Given the description of an element on the screen output the (x, y) to click on. 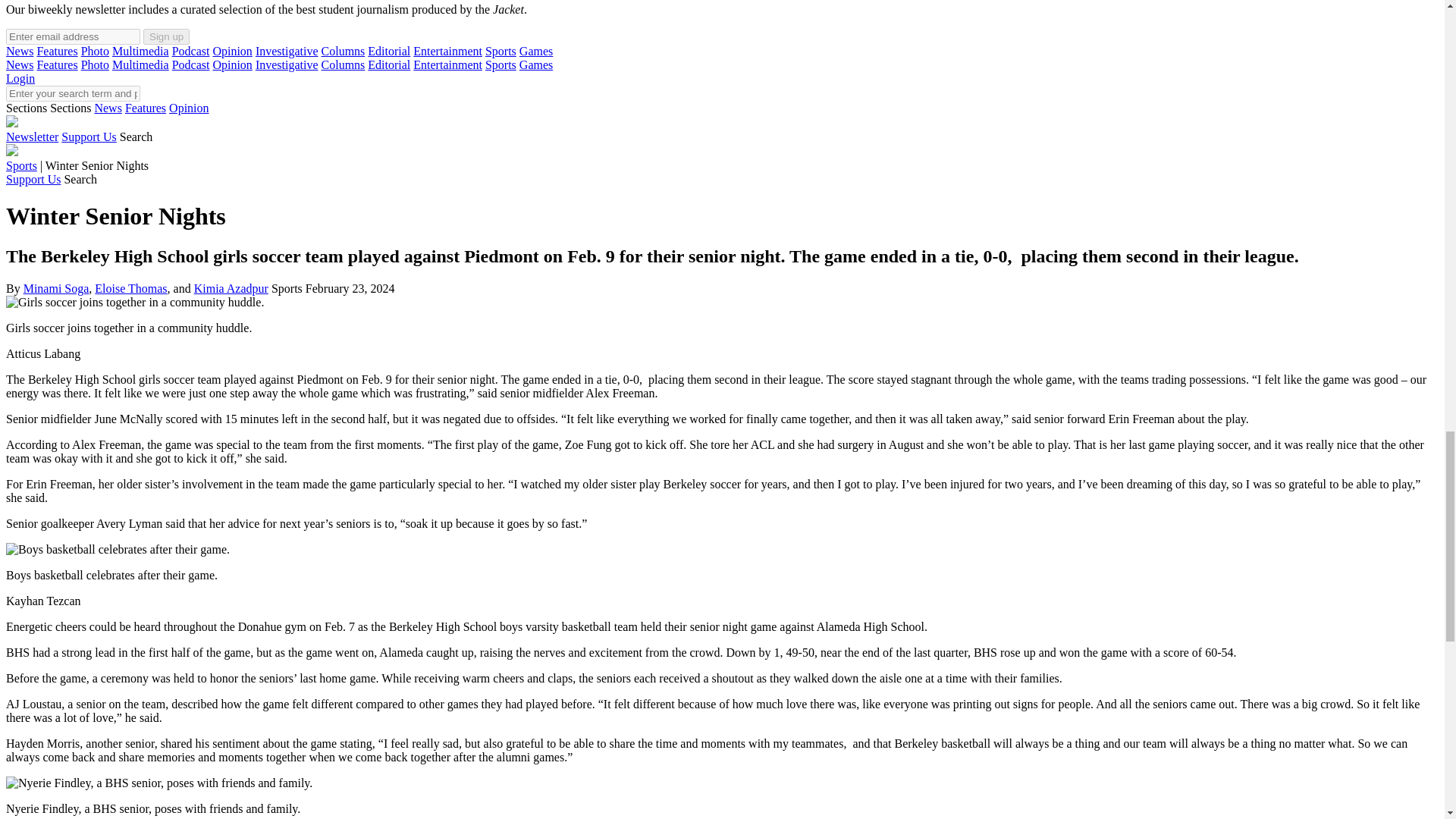
Games (536, 64)
Support Us (33, 178)
Features (56, 51)
Multimedia (140, 64)
Editorial (389, 51)
Posts by Eloise Thomas (130, 287)
Opinion (231, 64)
Posts by Kimia Azadpur (230, 287)
Investigative (287, 64)
Entertainment (447, 51)
Entertainment (447, 64)
Features (56, 64)
Minami Soga (55, 287)
Columns (343, 64)
Photo (95, 64)
